Given the description of an element on the screen output the (x, y) to click on. 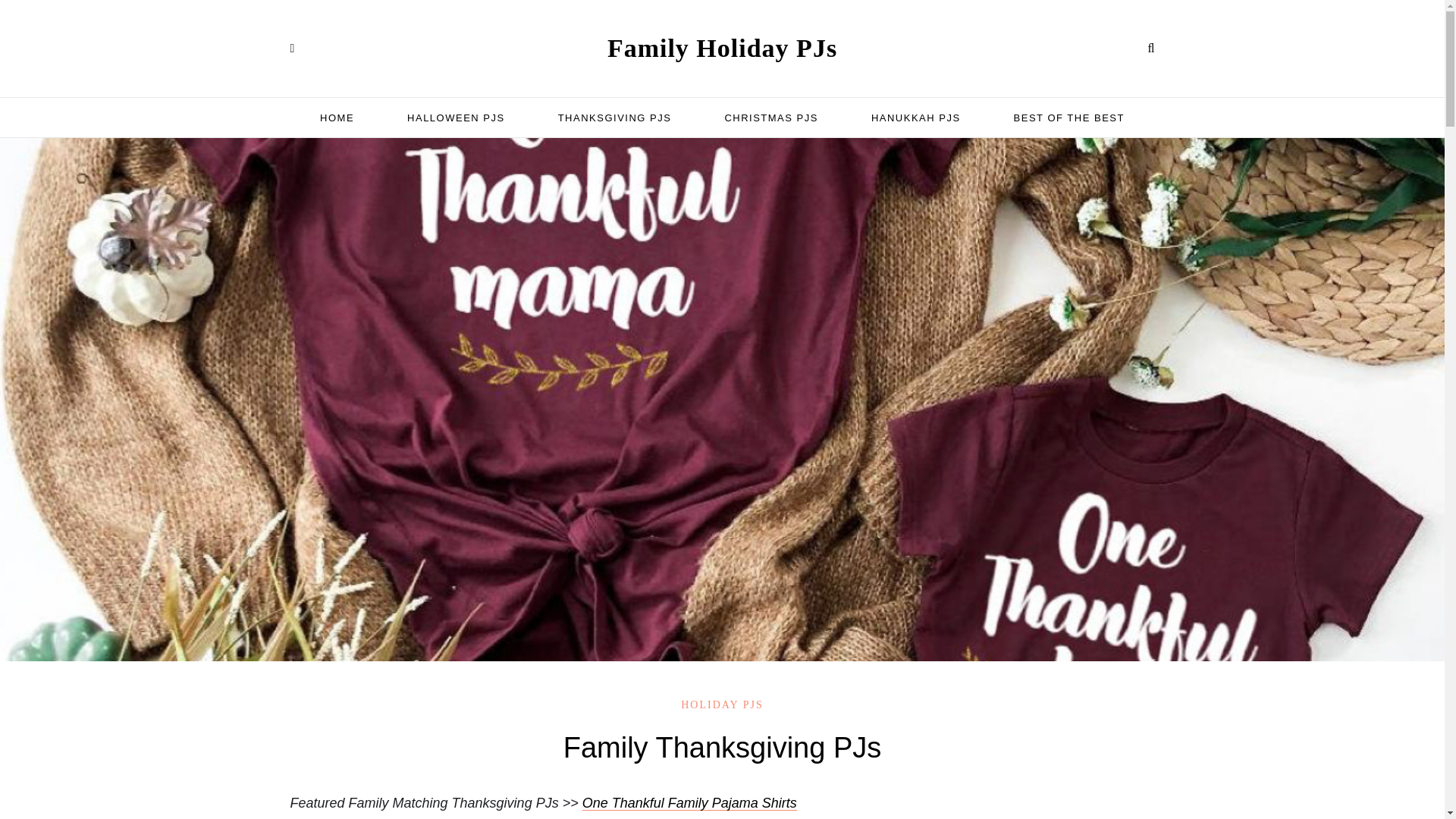
HALLOWEEN PJS (456, 117)
One Thankful Family Pajama Shirts (689, 802)
Family Holiday PJs (722, 48)
THANKSGIVING PJS (614, 117)
HOLIDAY PJS (721, 704)
CHRISTMAS PJS (770, 117)
BEST OF THE BEST (1068, 117)
HANUKKAH PJS (915, 117)
